Given the description of an element on the screen output the (x, y) to click on. 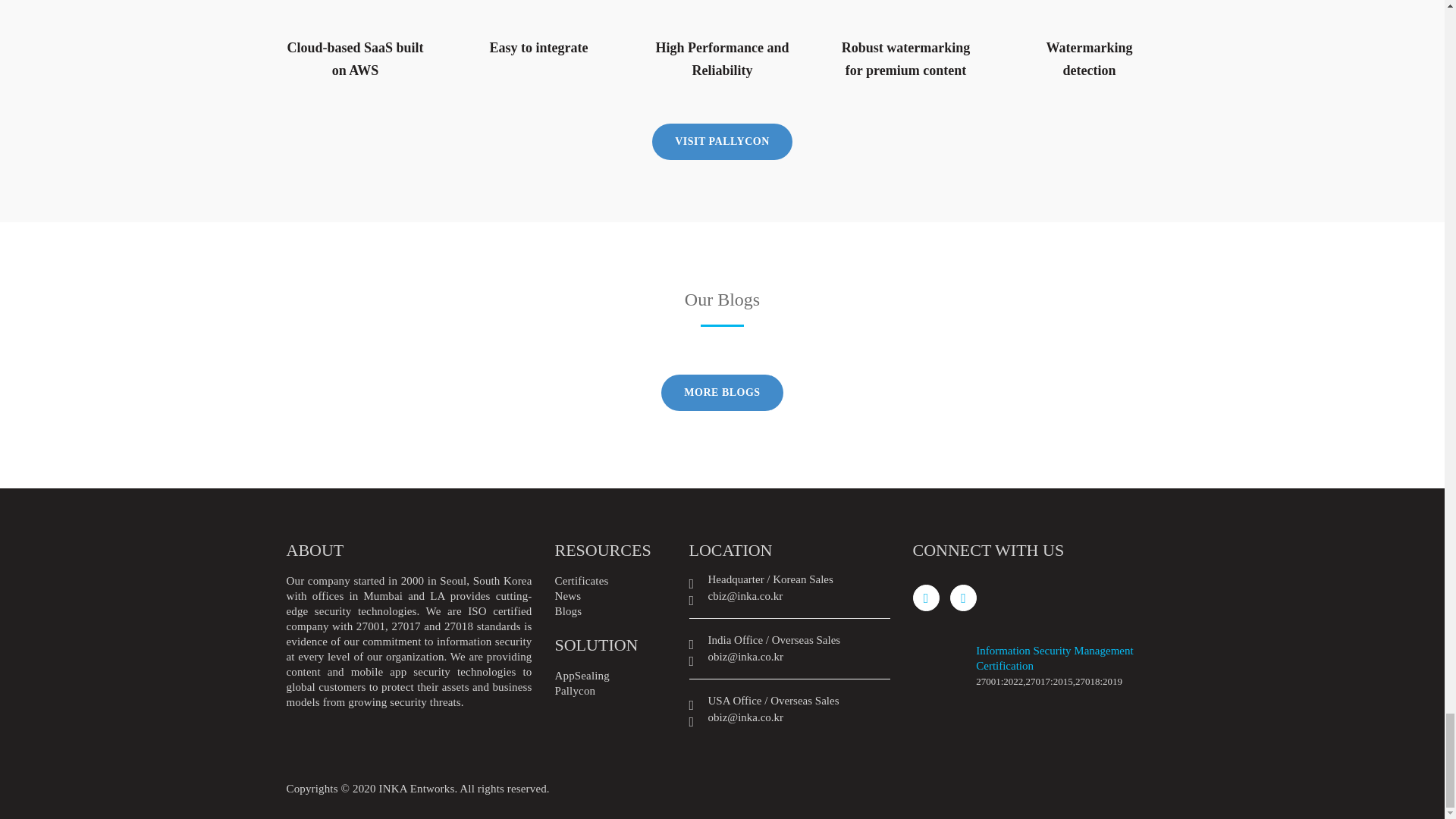
Certificates (581, 580)
Blogs (568, 611)
News (567, 595)
Pallycon (574, 690)
MORE BLOGS (722, 392)
AppSealing (582, 675)
VISIT PALLYCON (722, 141)
